Given the description of an element on the screen output the (x, y) to click on. 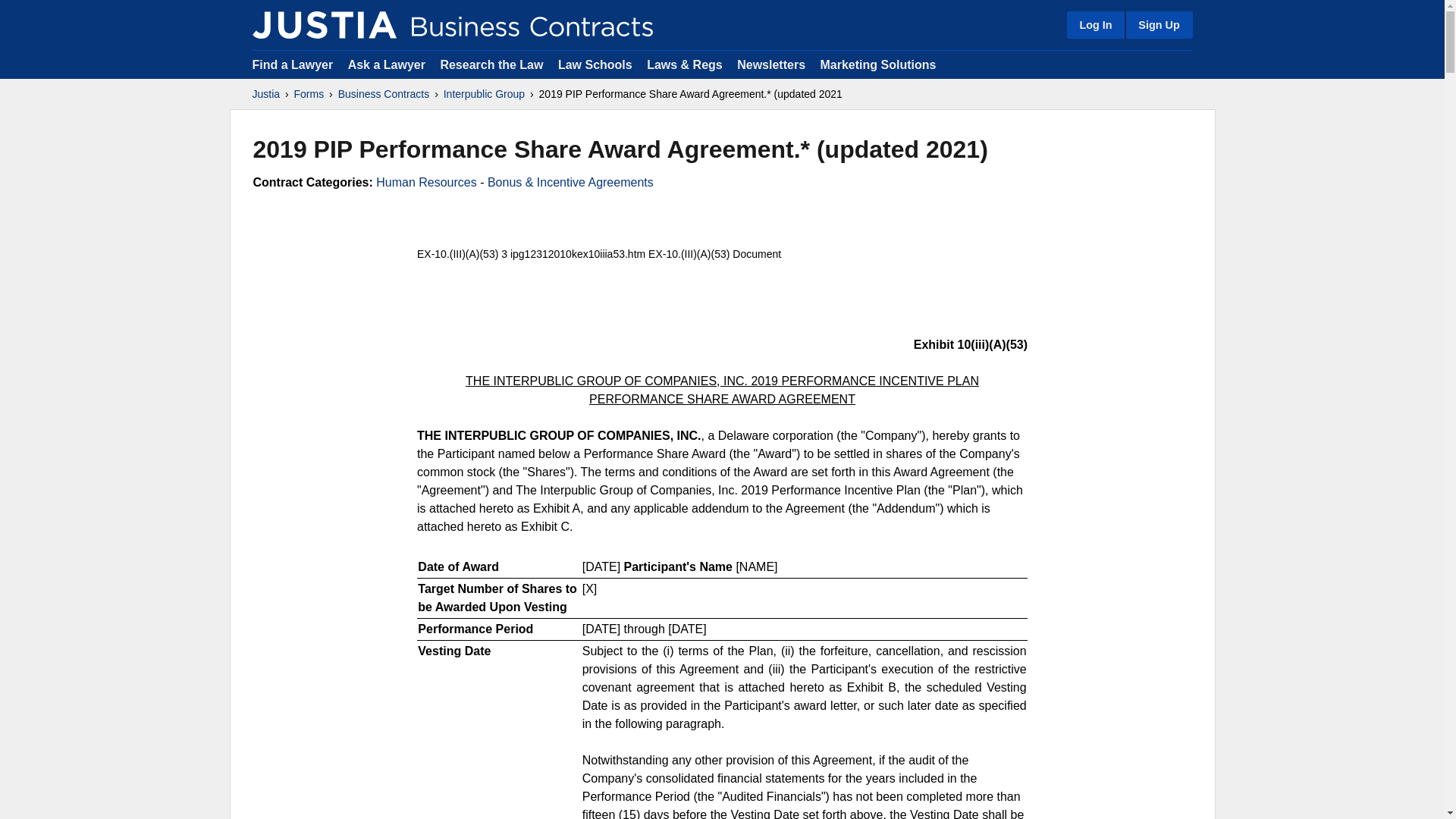
Sign Up (1158, 24)
Newsletters (770, 64)
Business Contracts (383, 93)
Justia (323, 24)
Find a Lawyer (292, 64)
Log In (1094, 24)
Research the Law (491, 64)
Human Resources (426, 182)
Law Schools (594, 64)
Justia (265, 93)
Marketing Solutions (877, 64)
Ask a Lawyer (388, 64)
Interpublic Group (484, 93)
Forms (309, 93)
